Given the description of an element on the screen output the (x, y) to click on. 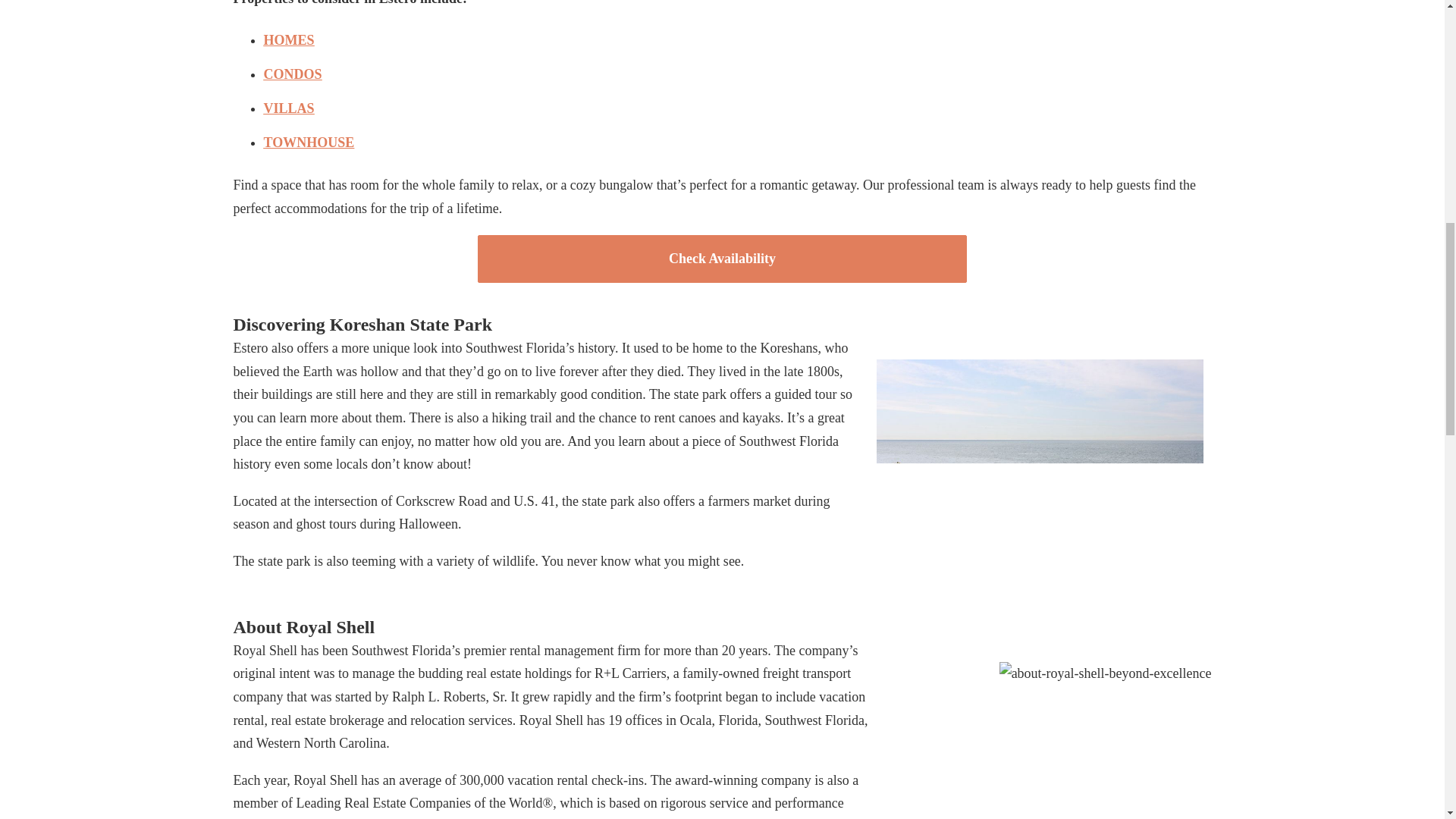
TOWNHOUSE (309, 142)
HOMES (288, 39)
VILLAS (288, 108)
CONDOS (292, 73)
Check Availability (721, 258)
